Given the description of an element on the screen output the (x, y) to click on. 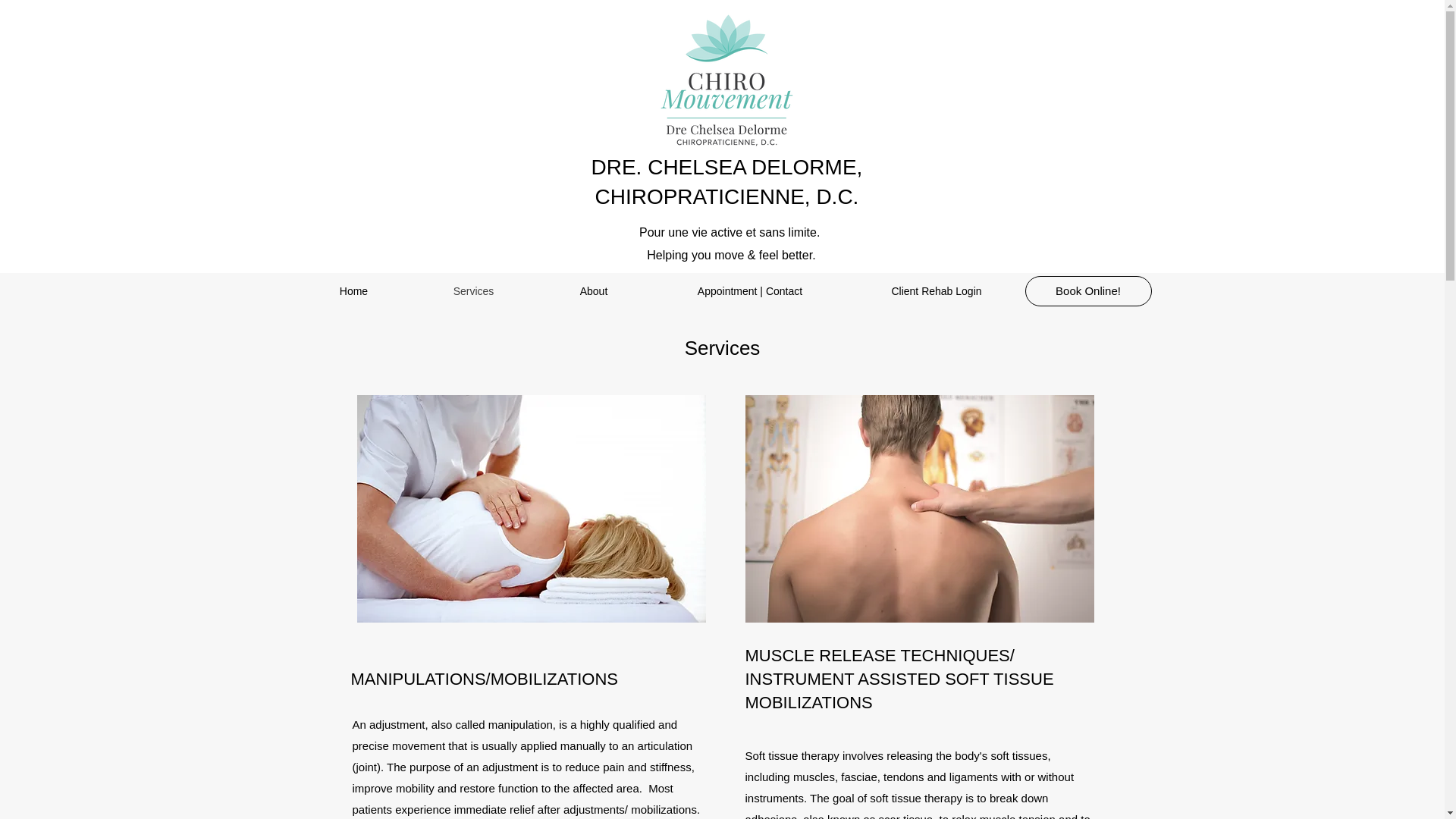
Client Rehab Login (936, 290)
Book Online! (1088, 291)
DRE. CHELSEA DELORME, CHIROPRATICIENNE, D.C. (726, 181)
Home (352, 290)
Services (472, 290)
About (592, 290)
